Given the description of an element on the screen output the (x, y) to click on. 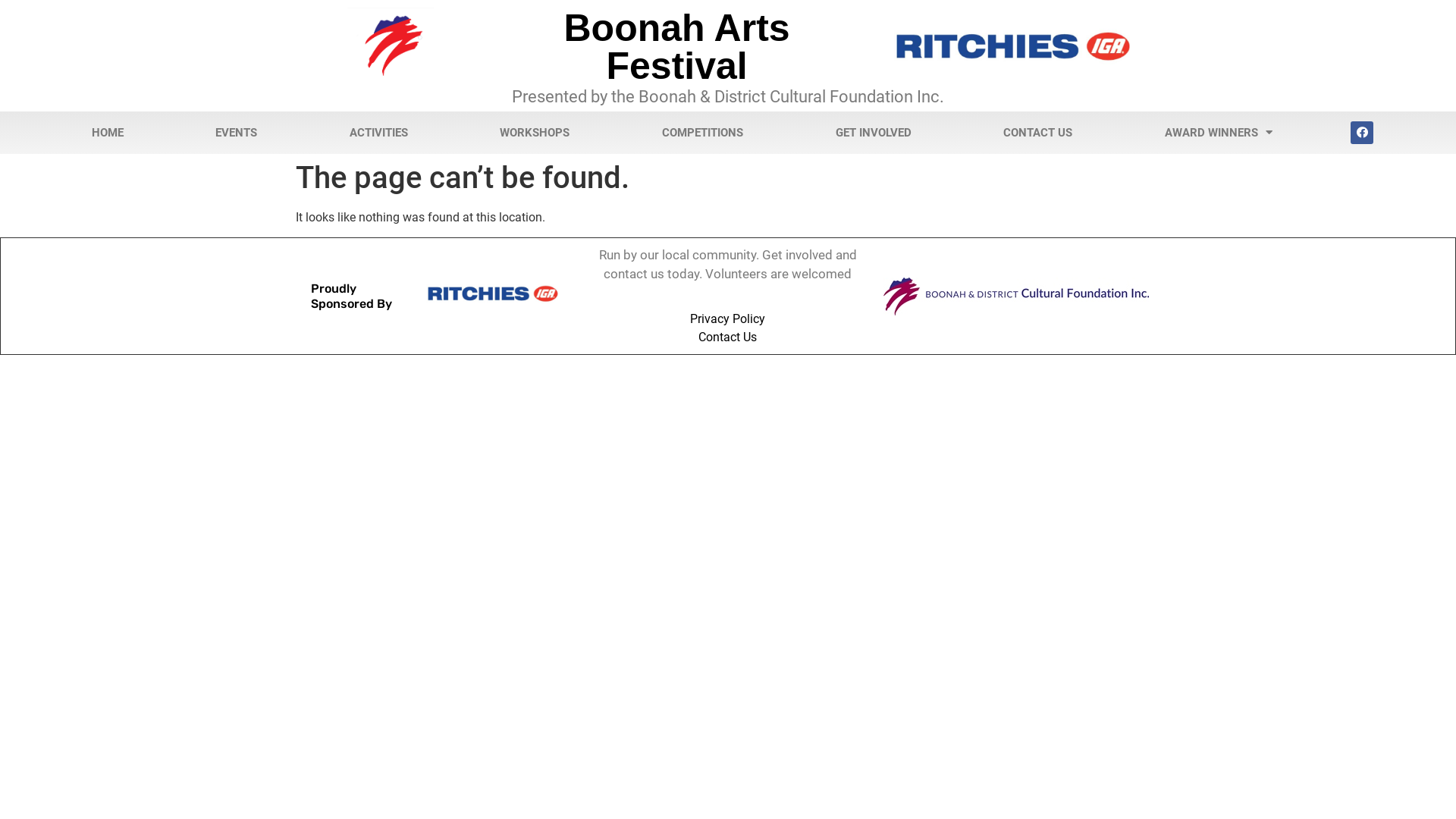
AWARD WINNERS Element type: text (1218, 132)
Contact Us Element type: text (727, 337)
ACTIVITIES Element type: text (378, 132)
COMPETITIONS Element type: text (702, 132)
WORKSHOPS Element type: text (535, 132)
HOME Element type: text (107, 132)
EVENTS Element type: text (236, 132)
Privacy Policy Element type: text (727, 319)
GET INVOLVED Element type: text (873, 132)
CONTACT US Element type: text (1037, 132)
